Given the description of an element on the screen output the (x, y) to click on. 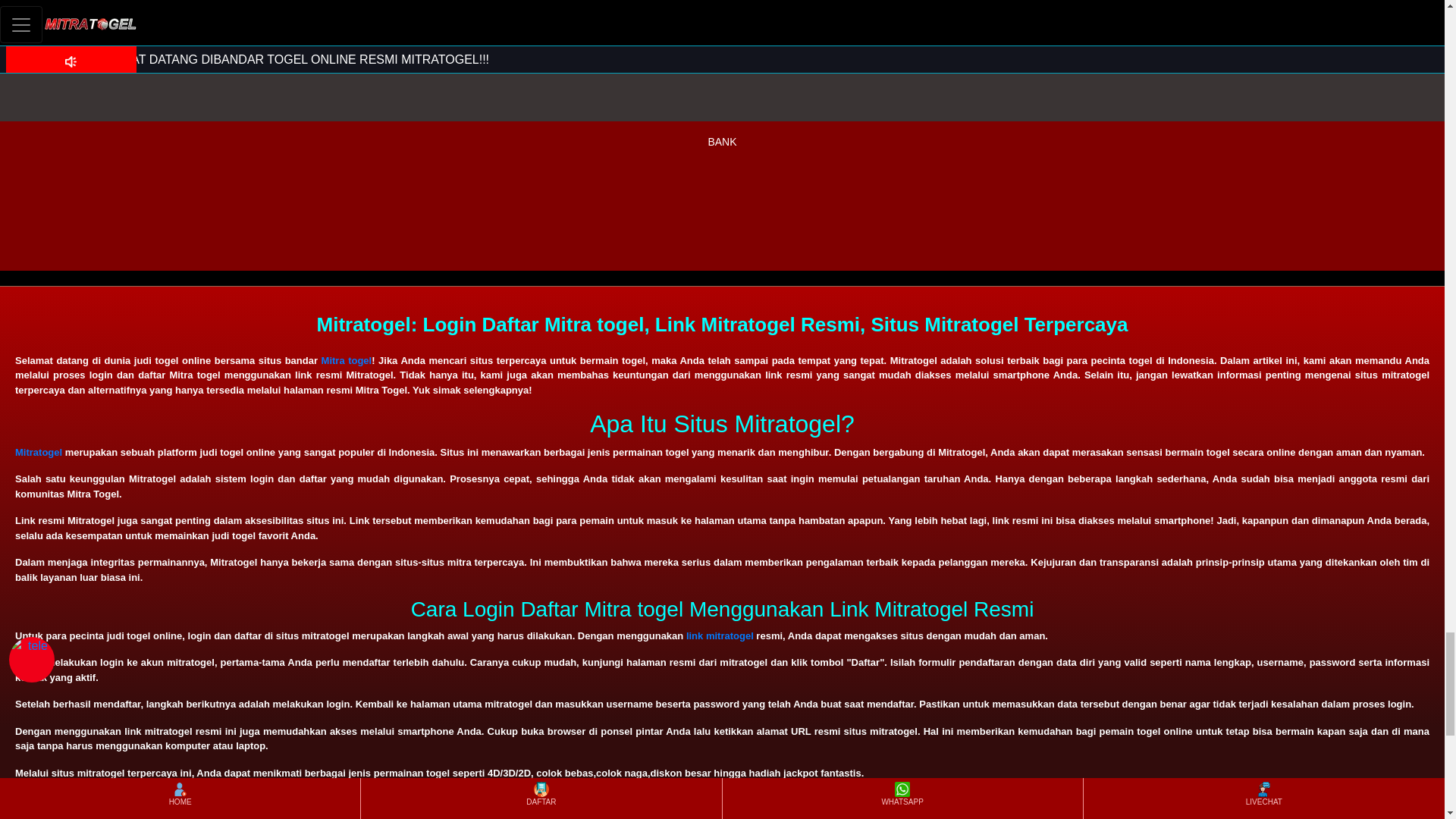
link mitratogel (719, 635)
Mitratogel (38, 451)
Mitra togel (346, 360)
